Given the description of an element on the screen output the (x, y) to click on. 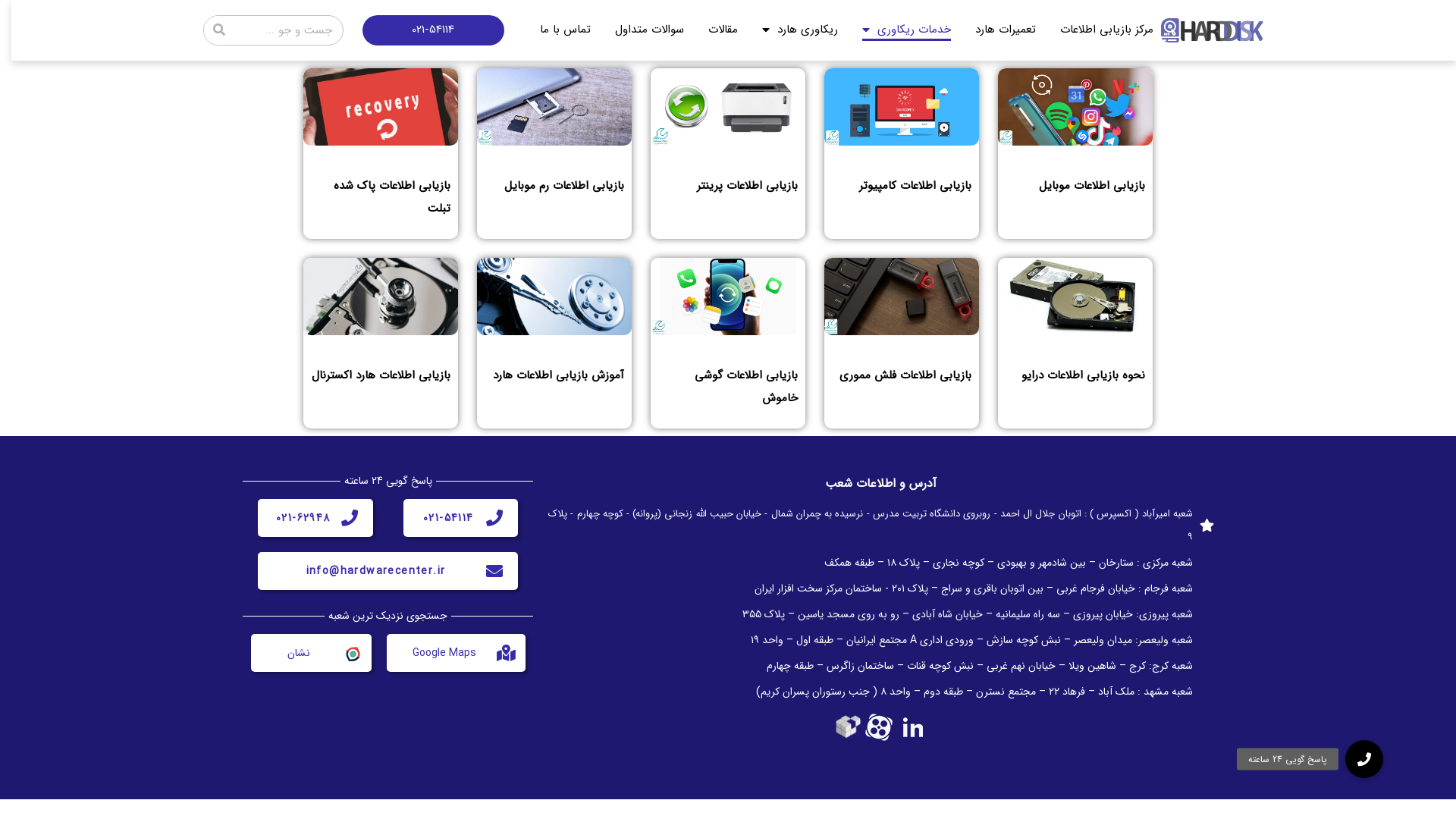
Search Element type: hover (288, 29)
021-62948 Element type: text (303, 517)
info@hardwarecenter.ir Element type: text (375, 570)
021-54114 Element type: text (433, 30)
Google Maps Element type: text (444, 652)
021-54114 Element type: text (448, 517)
Search Element type: hover (218, 29)
